Given the description of an element on the screen output the (x, y) to click on. 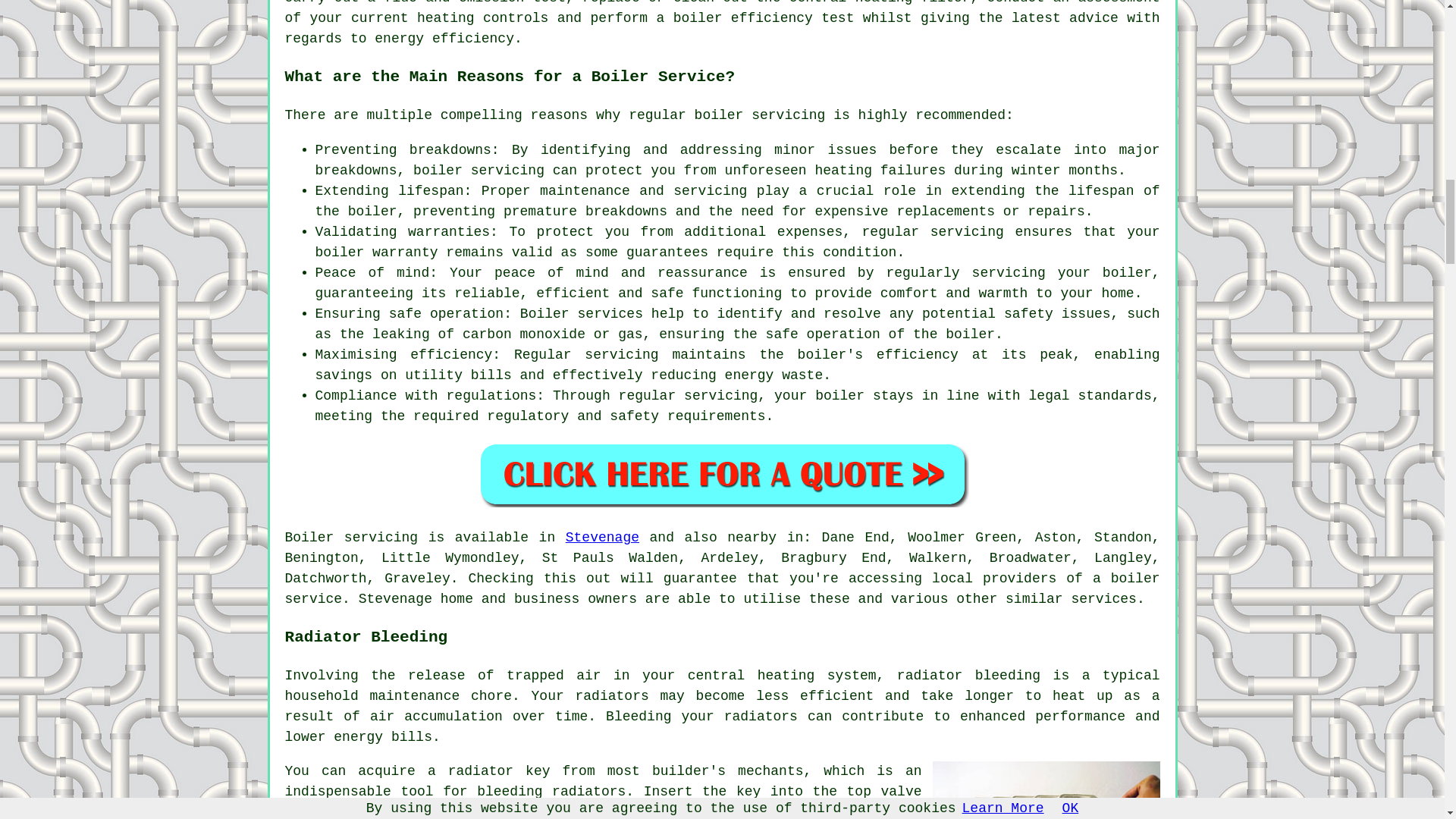
Radiator Bleeding (1046, 790)
servicing (1008, 272)
radiator bleeding (968, 674)
